Given the description of an element on the screen output the (x, y) to click on. 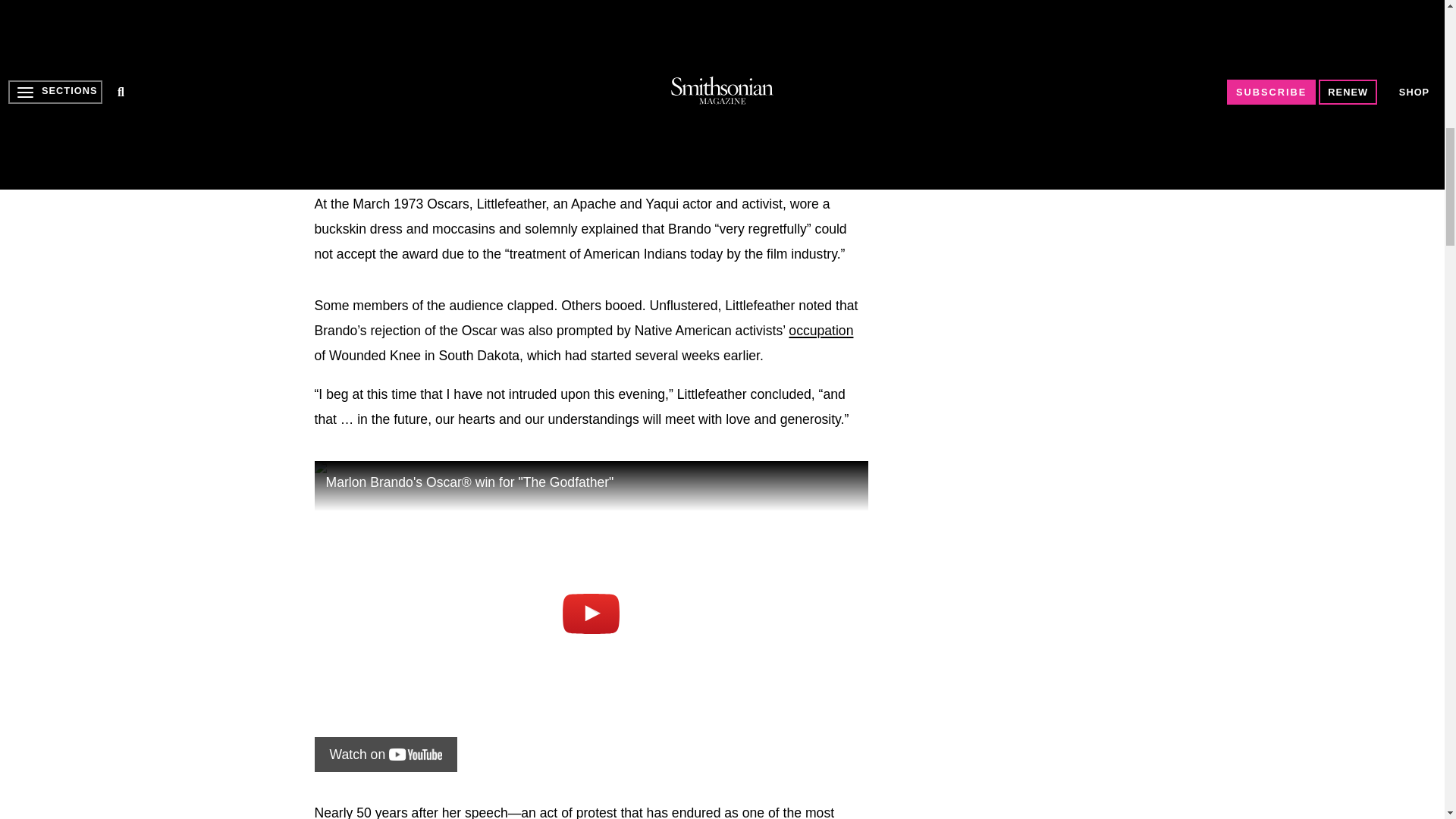
Email (542, 70)
Facebook (325, 70)
Reddit (418, 70)
Pocket (480, 70)
WhatsApp (450, 70)
Print (511, 70)
Twitter (357, 70)
LinkedIn (387, 70)
